Given the description of an element on the screen output the (x, y) to click on. 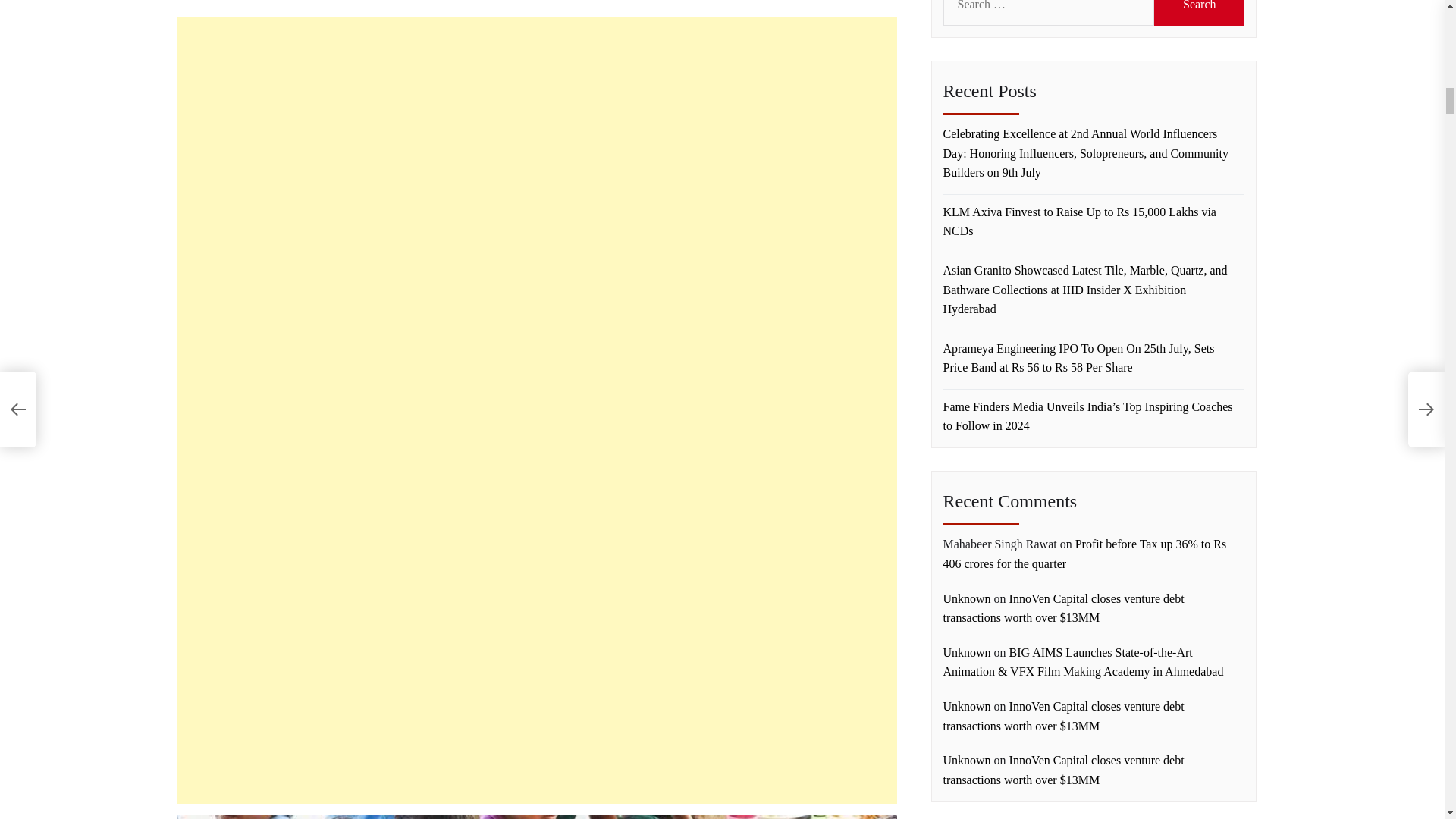
Post Comment (252, 710)
Search (1199, 12)
Search (1199, 12)
yes (207, 658)
